Given the description of an element on the screen output the (x, y) to click on. 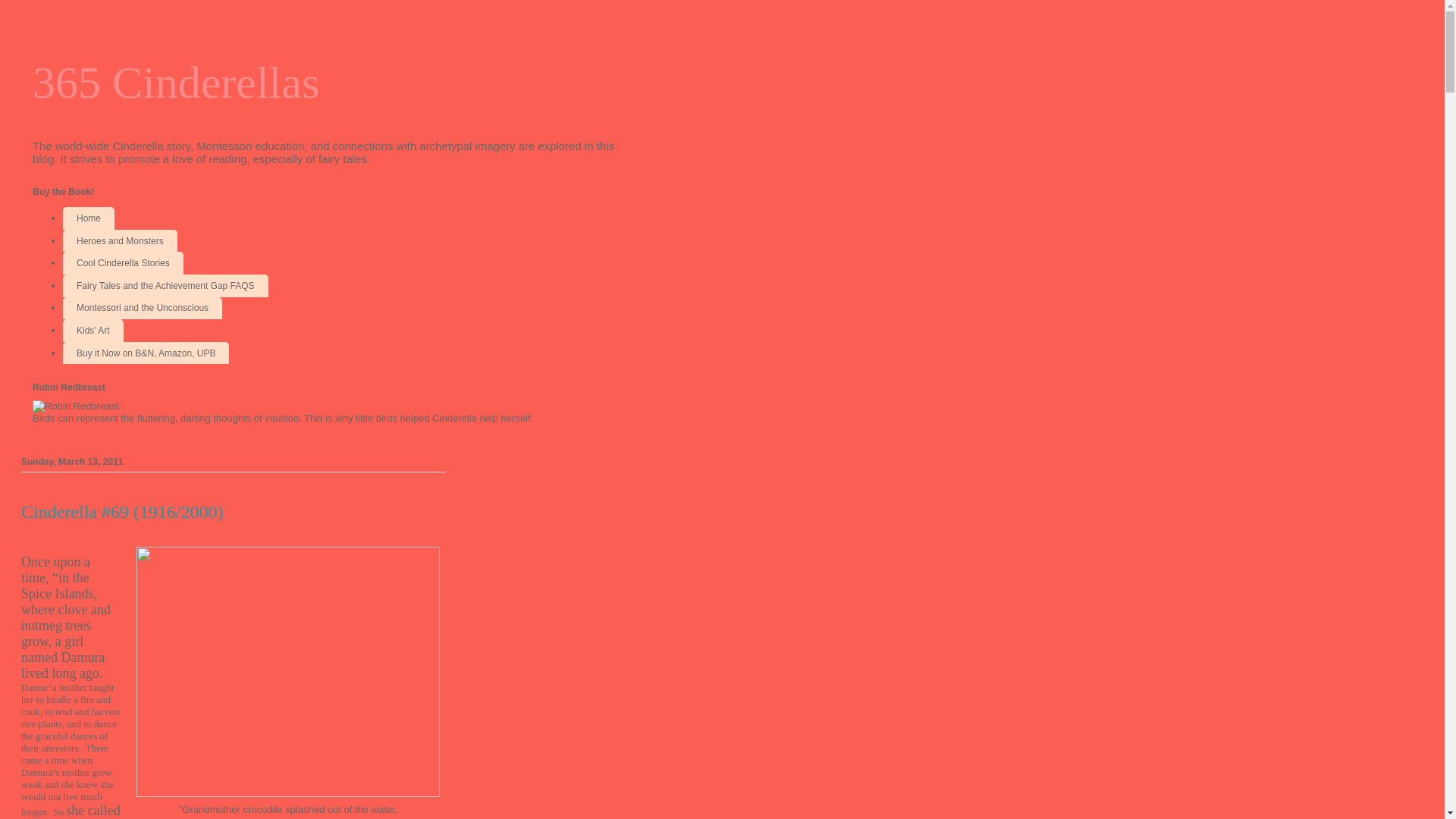
Home Element type: text (88, 218)
Fairy Tales and the Achievement Gap FAQS Element type: text (165, 285)
Montessori and the Unconscious Element type: text (142, 308)
365 Cinderellas Element type: text (175, 82)
Cool Cinderella Stories Element type: text (122, 262)
Buy it Now on B&N, Amazon, UPB Element type: text (145, 353)
Heroes and Monsters Element type: text (119, 240)
Kids' Art Element type: text (92, 330)
